Given the description of an element on the screen output the (x, y) to click on. 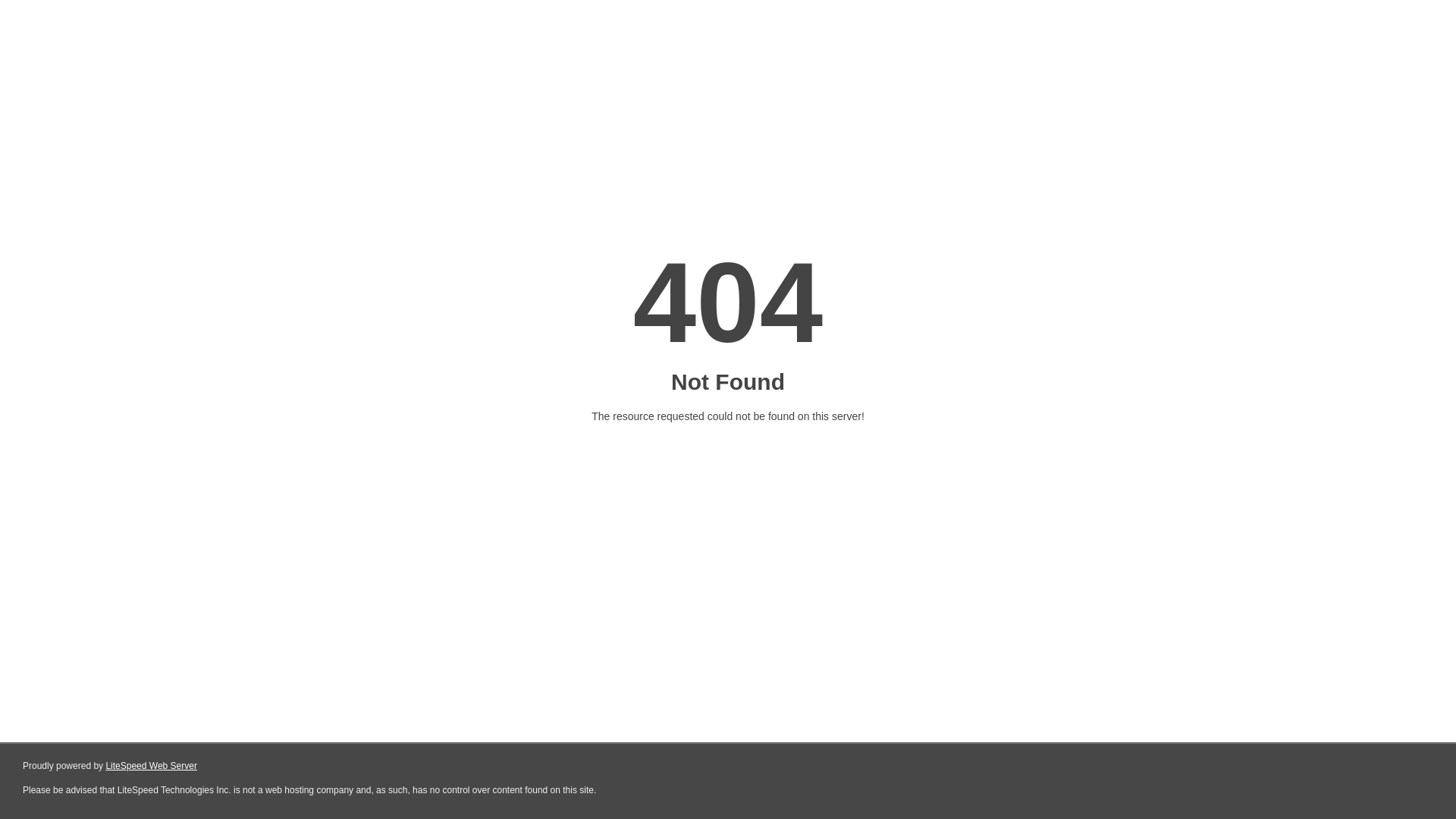
LiteSpeed Web Server Element type: text (151, 765)
